Given the description of an element on the screen output the (x, y) to click on. 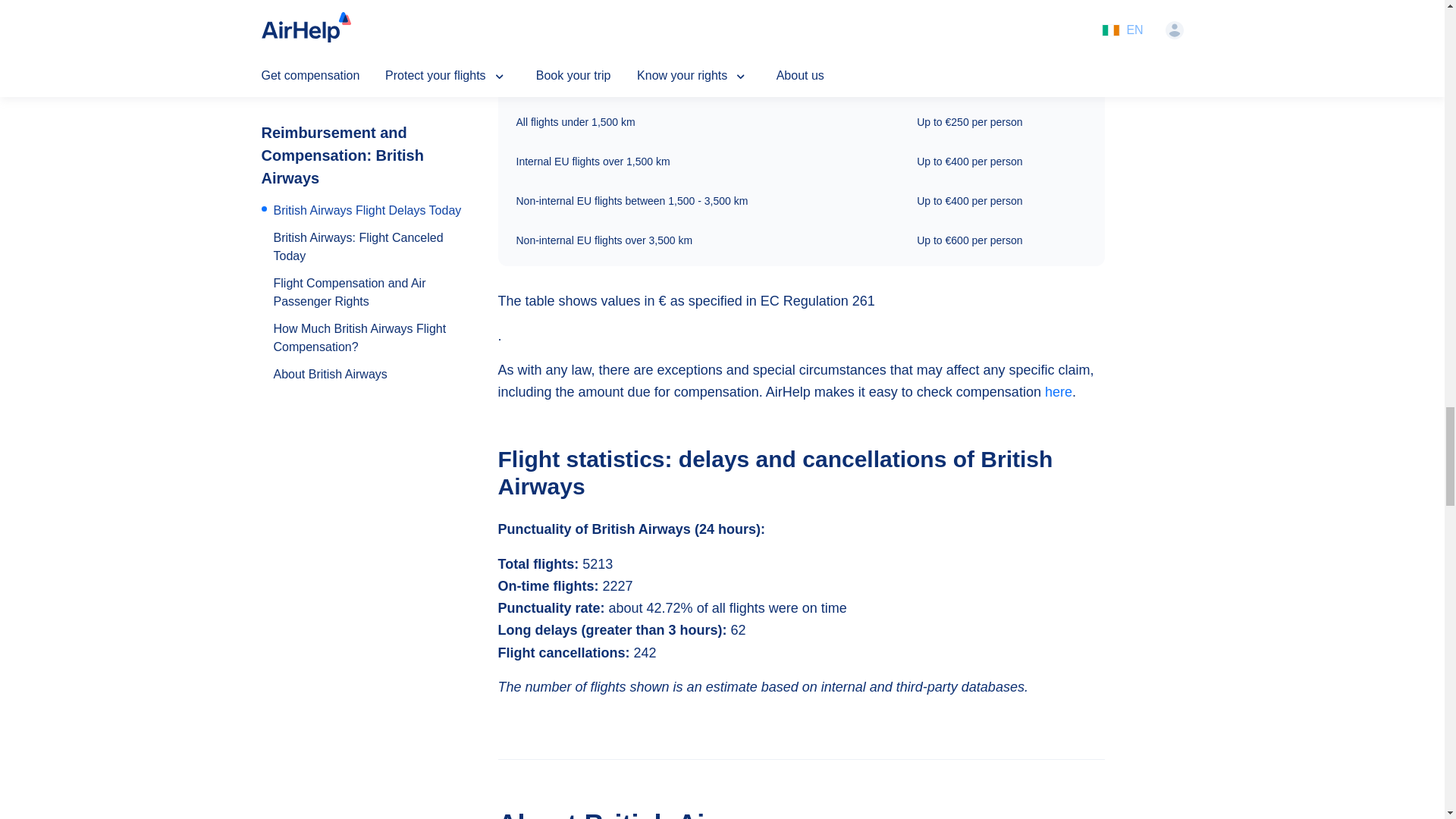
here (1058, 391)
